Given the description of an element on the screen output the (x, y) to click on. 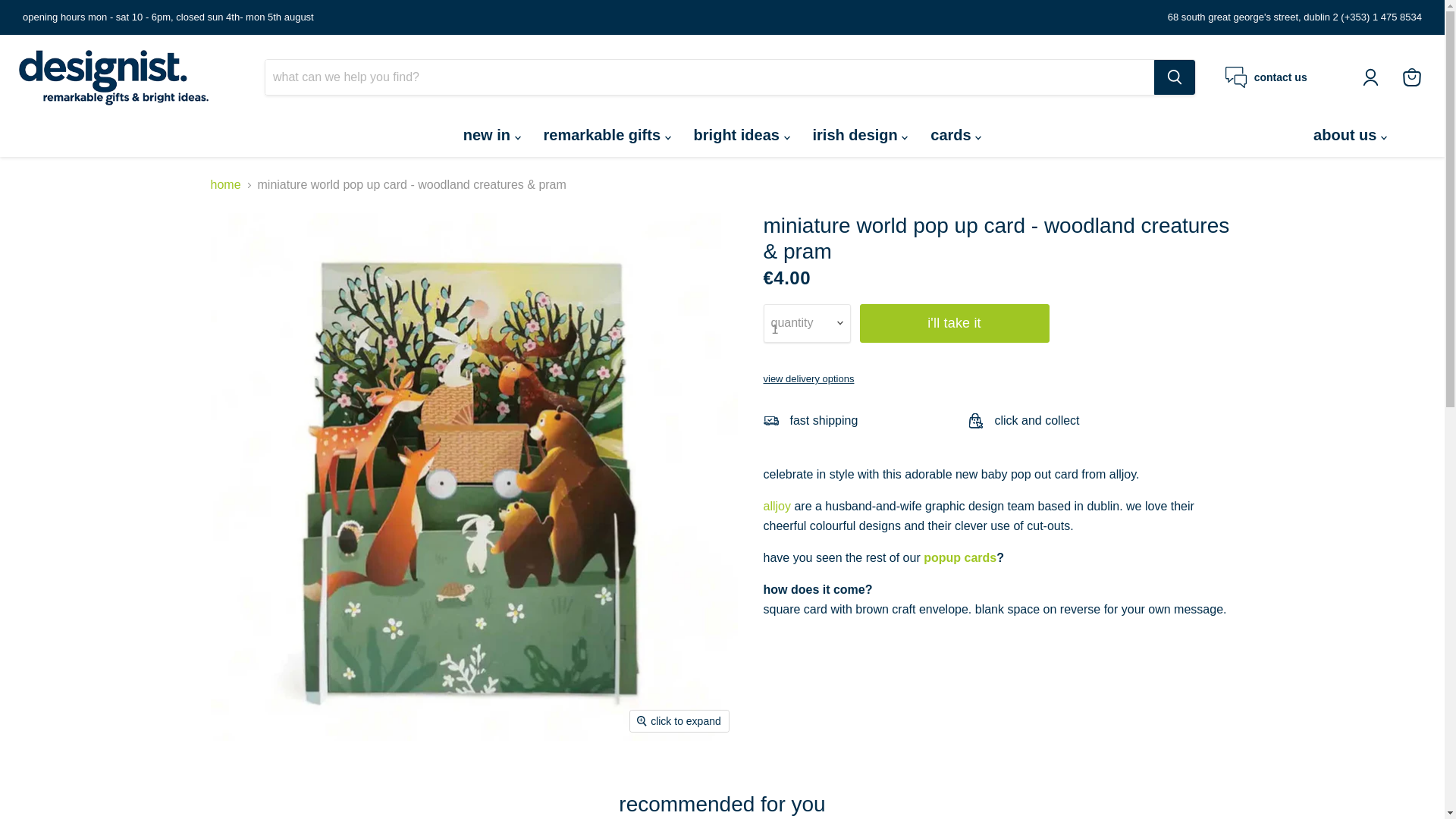
new in (491, 134)
pop up cards (957, 557)
view cart (1411, 77)
contact us (1266, 76)
alljoy (776, 505)
remarkable gifts (607, 134)
